Given the description of an element on the screen output the (x, y) to click on. 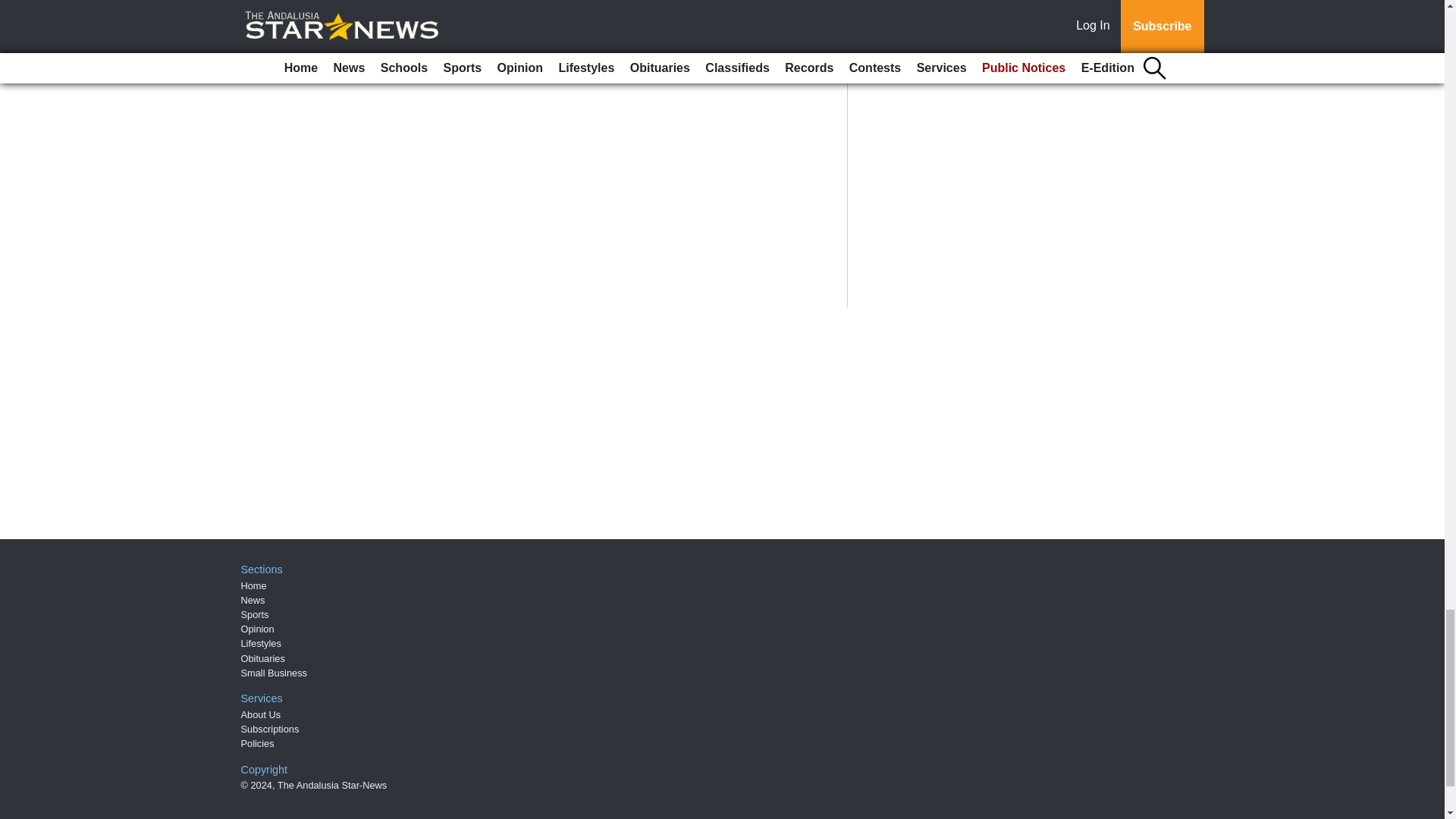
Lifestyles (261, 643)
Home (253, 585)
Obituaries (263, 658)
Sports (255, 614)
News (252, 600)
Opinion (258, 628)
